Given the description of an element on the screen output the (x, y) to click on. 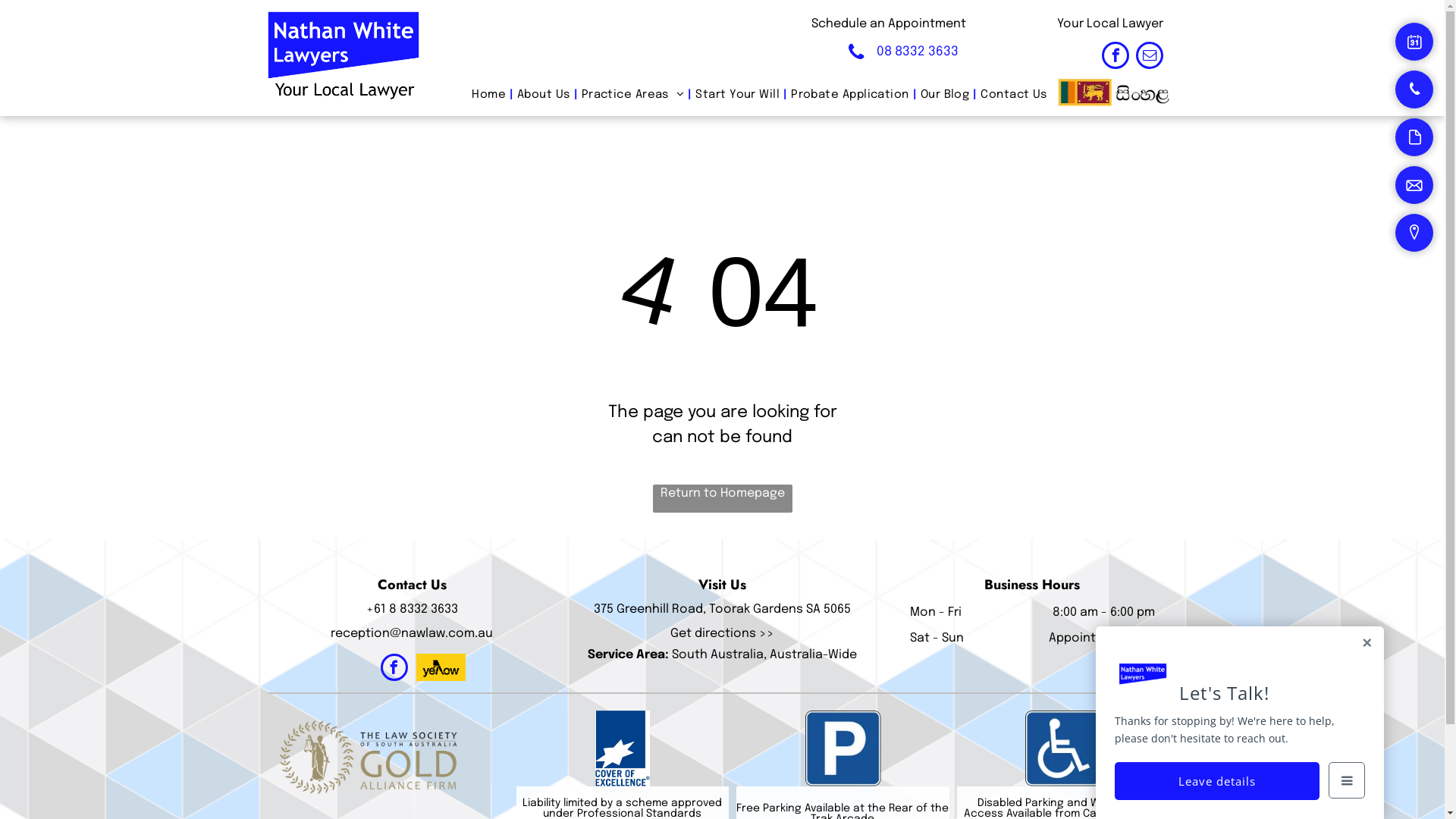
reception@nawlaw.com.au Element type: text (411, 633)
Start Your Will Element type: text (737, 94)
Probate Application Element type: text (850, 94)
08 8332 3633 Element type: text (907, 51)
About Us Element type: text (543, 94)
Leave details Element type: text (1216, 781)
Return to Homepage Element type: text (721, 498)
Get directions >> Element type: text (722, 633)
8 8332 3633 Element type: text (423, 608)
Practice Areas Element type: text (632, 94)
Our Blog Element type: text (944, 94)
Home Element type: text (488, 94)
Contact Us Element type: text (1013, 94)
